Given the description of an element on the screen output the (x, y) to click on. 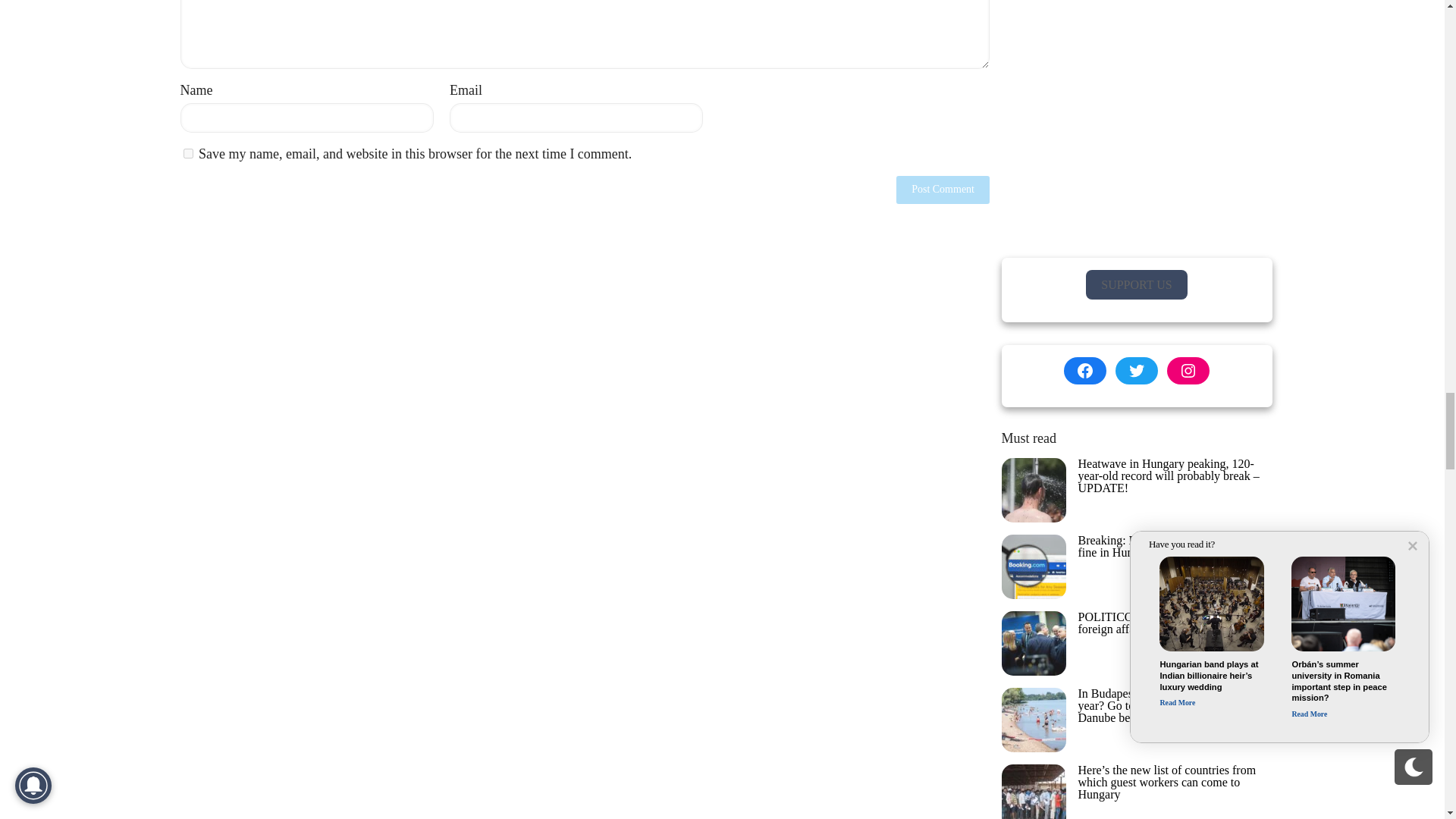
yes (188, 153)
Post Comment (943, 189)
